Given the description of an element on the screen output the (x, y) to click on. 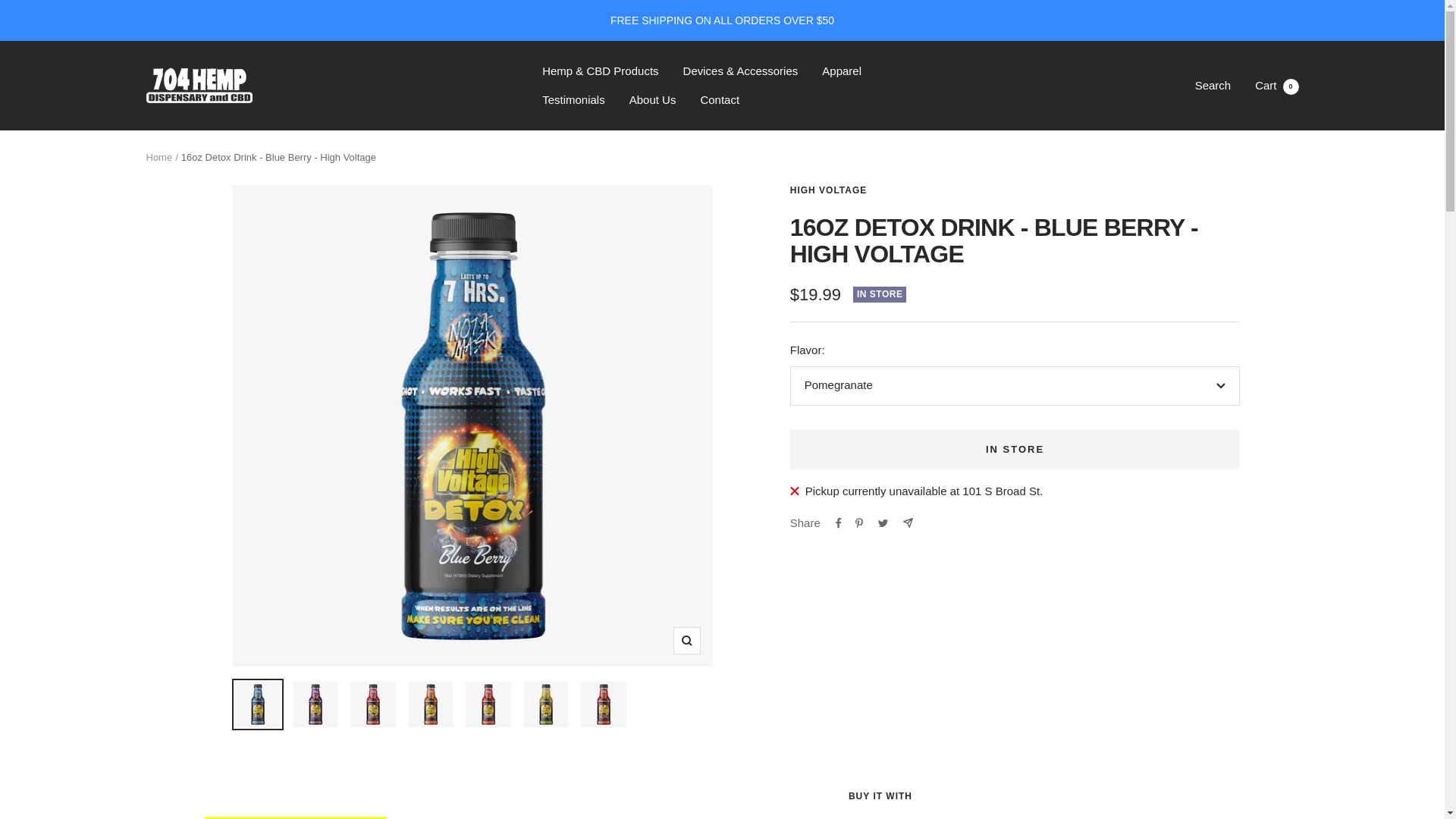
Testimonials (573, 99)
Search (1213, 84)
Contact (719, 99)
Apparel (841, 71)
About Us (1276, 84)
Home (652, 99)
Zoom (158, 156)
704-hemp (686, 640)
